Given the description of an element on the screen output the (x, y) to click on. 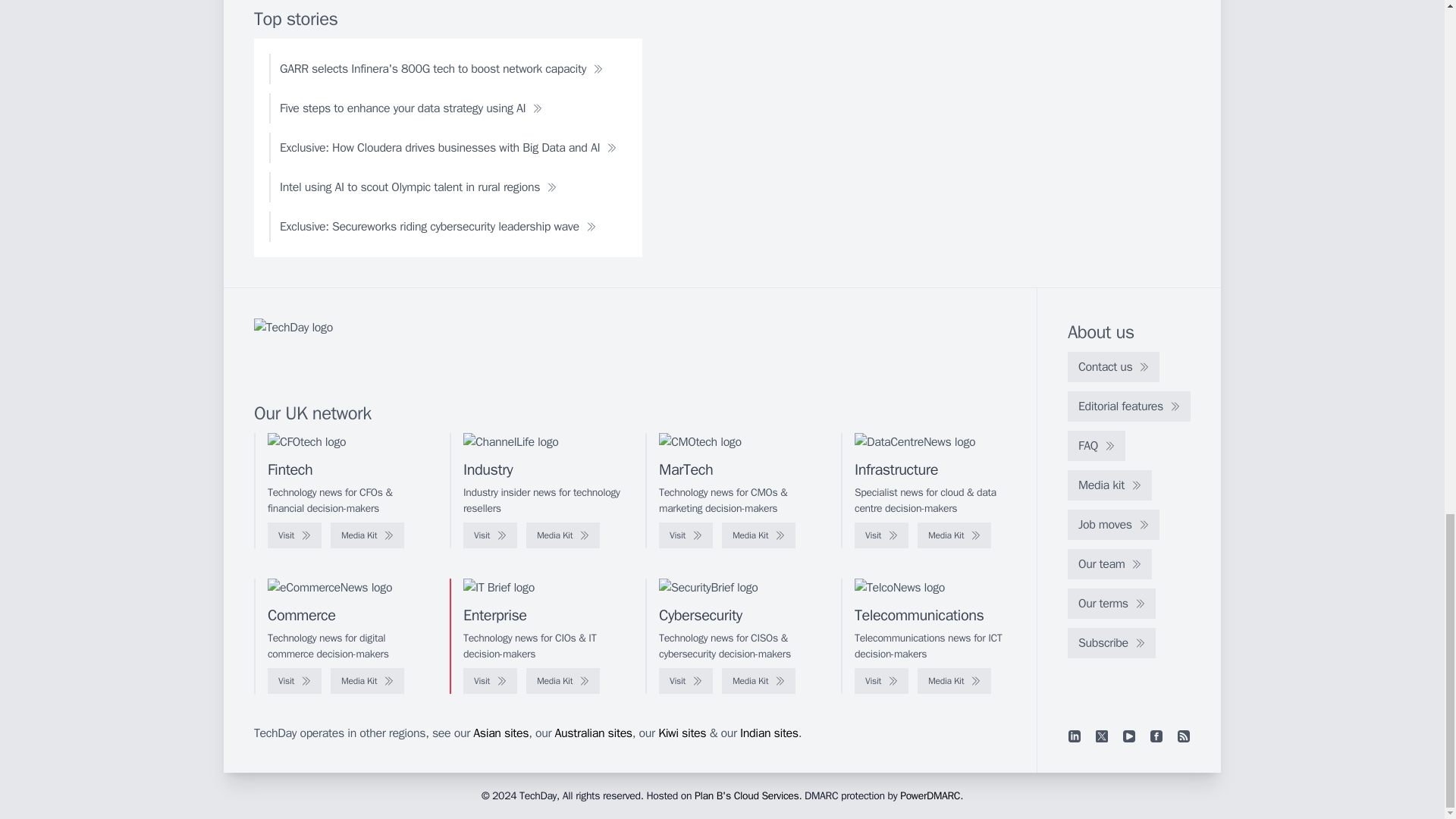
Media Kit (758, 534)
Media Kit (954, 534)
Visit (686, 534)
Visit (881, 534)
GARR selects Infinera's 800G tech to boost network capacity (440, 69)
Five steps to enhance your data strategy using AI (411, 108)
Media Kit (367, 534)
Visit (489, 534)
Media Kit (562, 534)
Visit (294, 534)
Exclusive: Secureworks riding cybersecurity leadership wave (438, 226)
Intel using AI to scout Olympic talent in rural regions (418, 186)
